Given the description of an element on the screen output the (x, y) to click on. 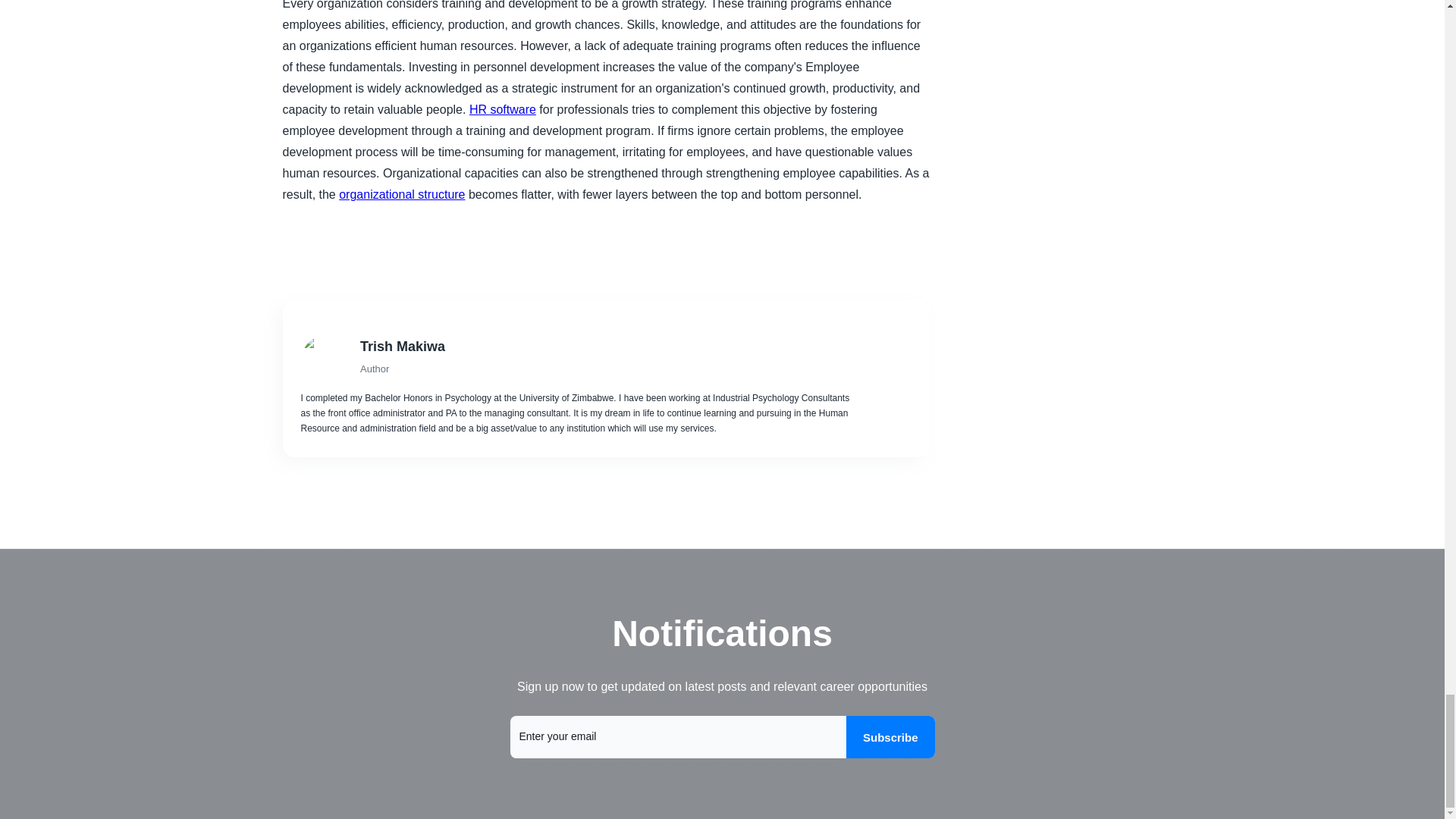
HR software (501, 109)
Trish Makiwa (608, 346)
organizational structure (401, 194)
Subscribe (889, 736)
